Given the description of an element on the screen output the (x, y) to click on. 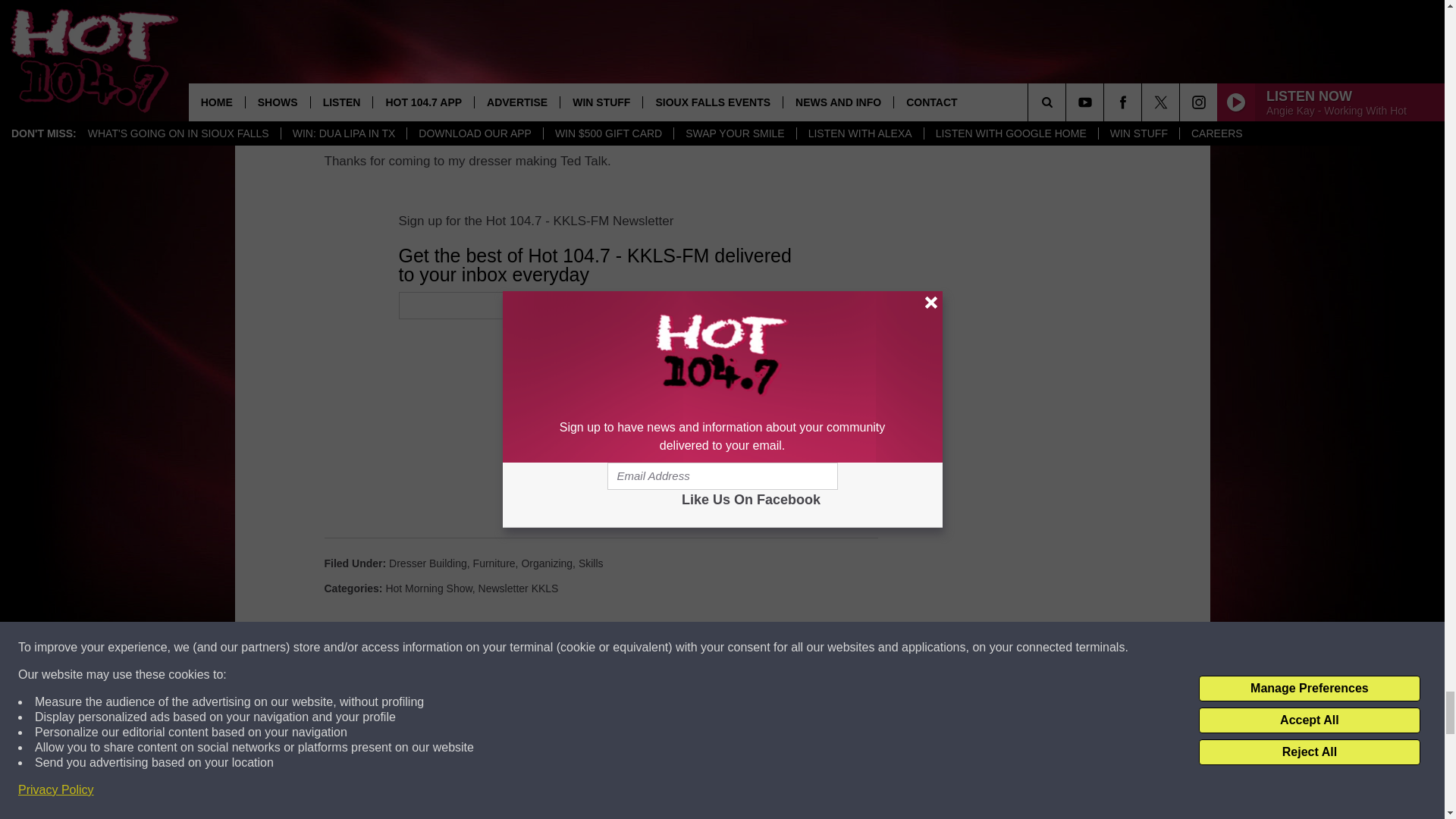
Email Address (669, 305)
